Given the description of an element on the screen output the (x, y) to click on. 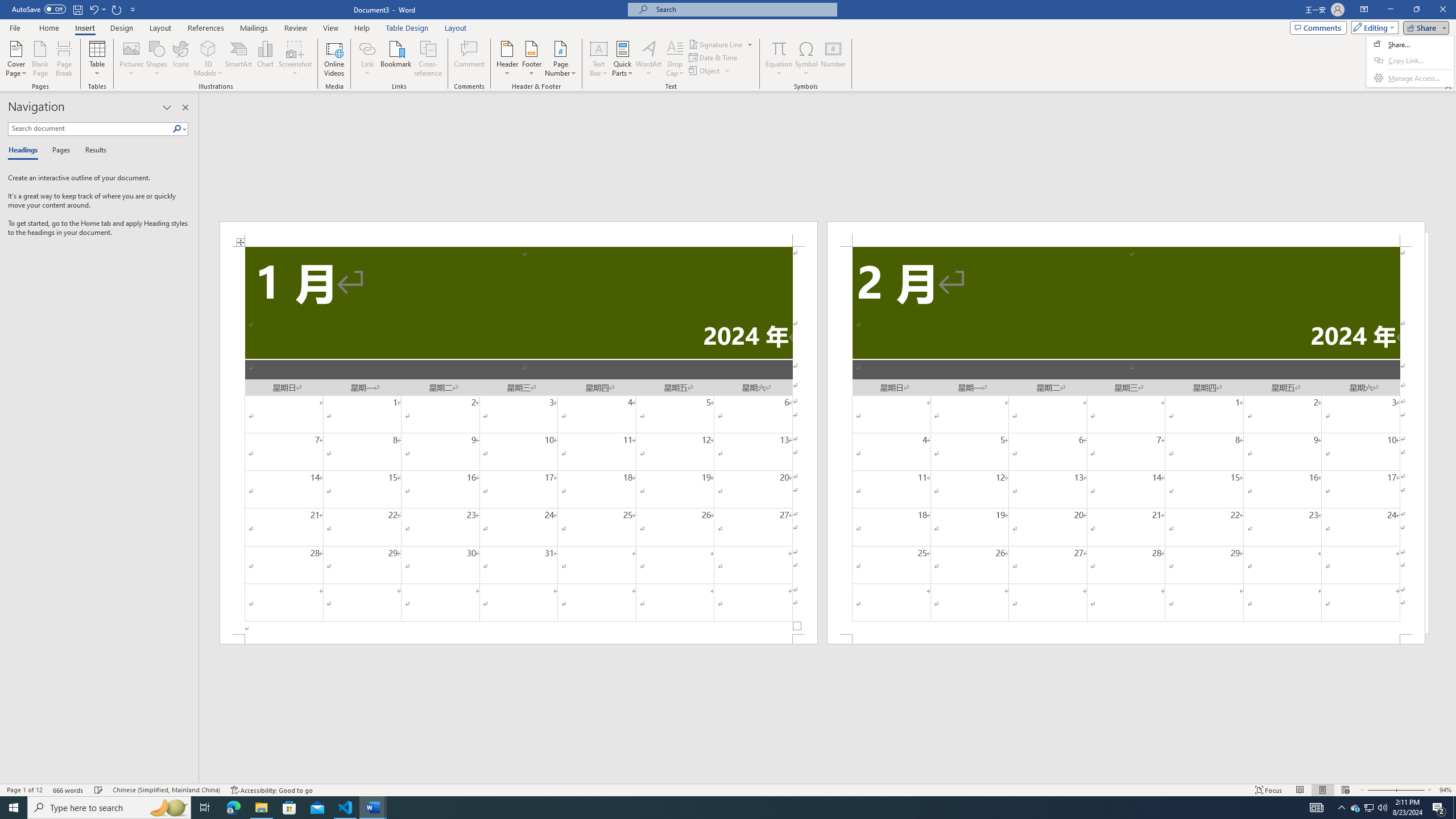
Screenshot (295, 58)
SmartArt... (238, 58)
Cross-reference... (428, 58)
